Given the description of an element on the screen output the (x, y) to click on. 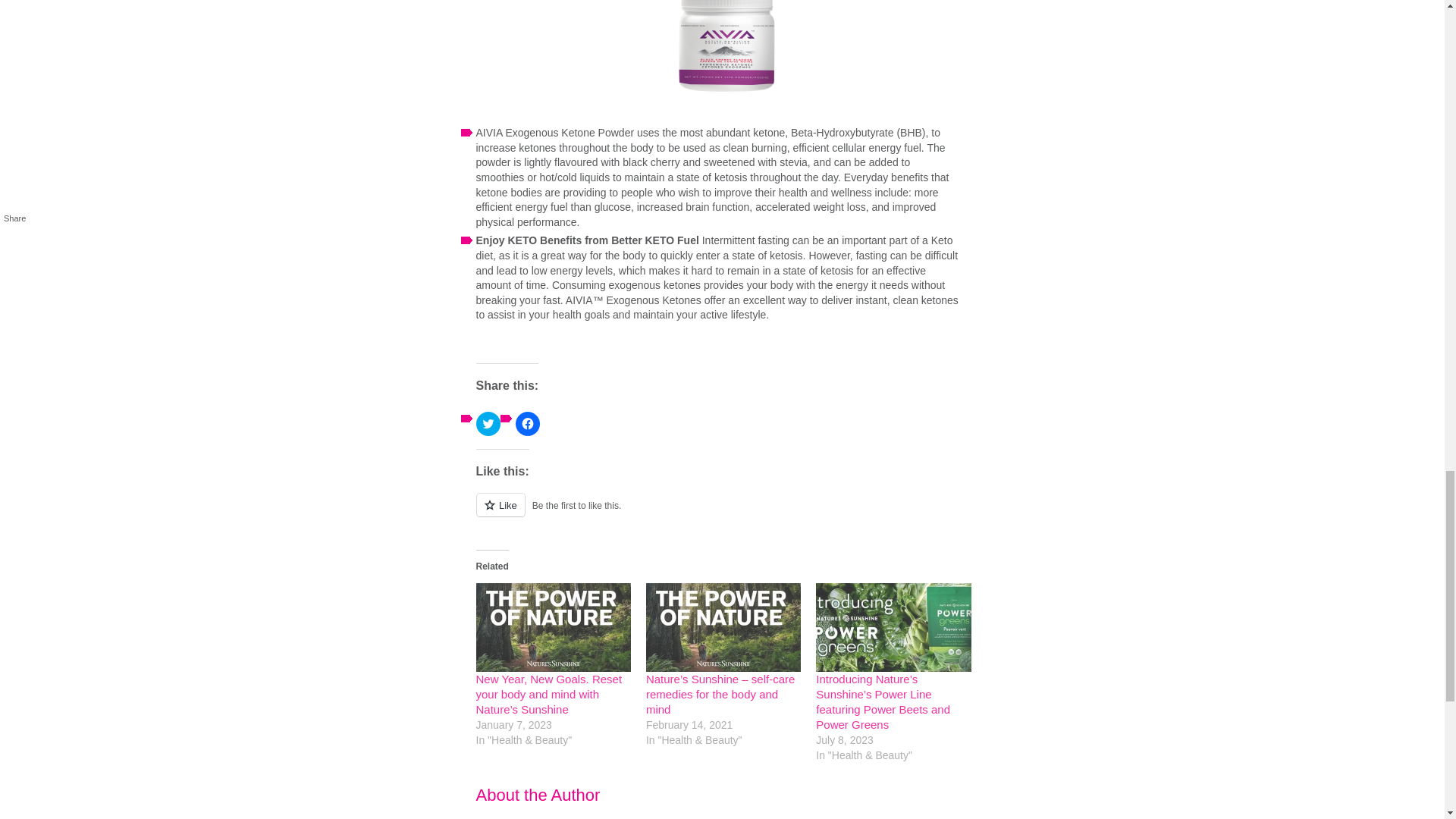
Click to share on Twitter (488, 423)
Click to share on Facebook (527, 423)
Like or Reblog (726, 513)
